Given the description of an element on the screen output the (x, y) to click on. 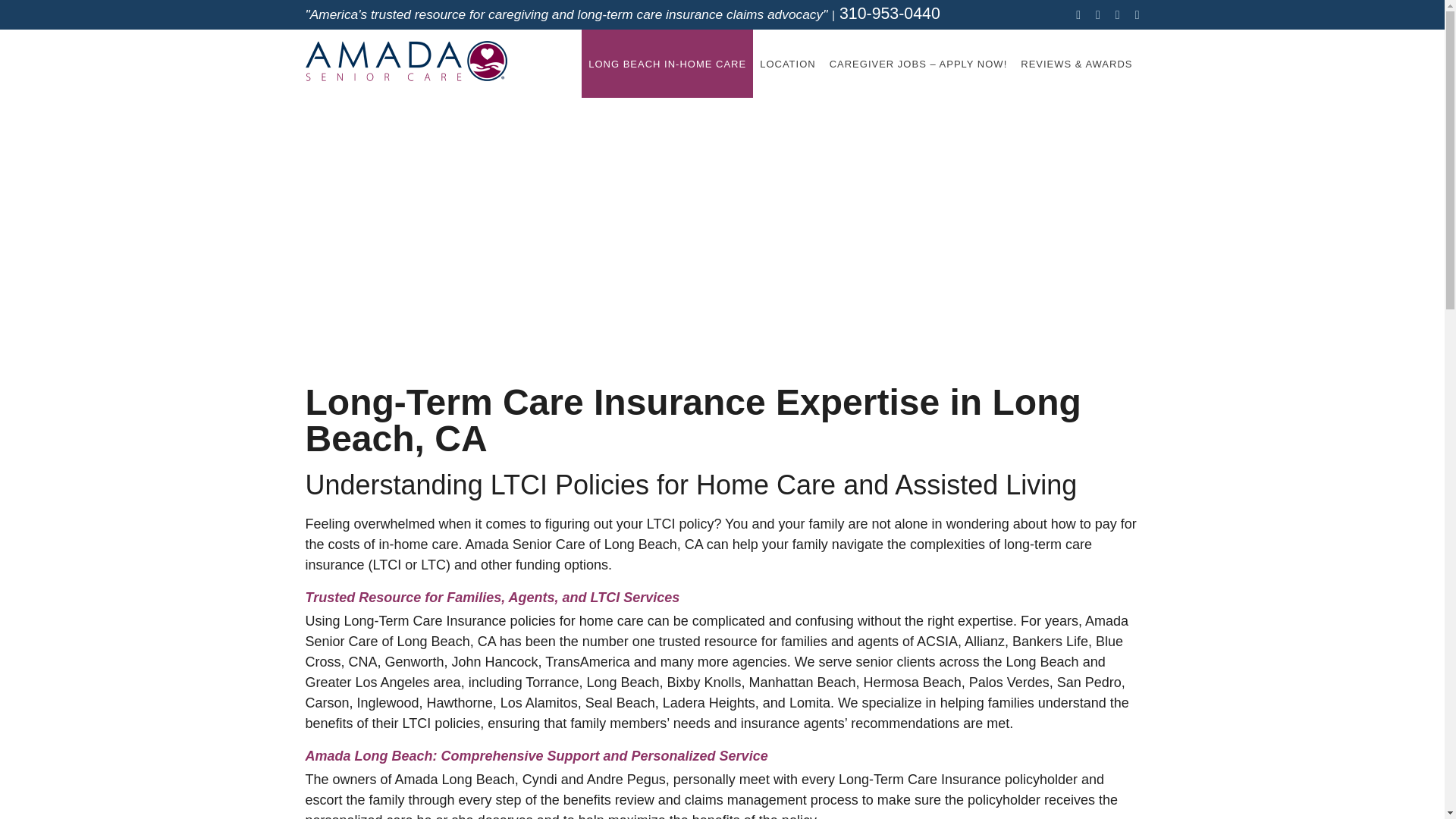
310-953-0440 (890, 13)
LOCATION (787, 63)
LONG BEACH IN-HOME CARE (666, 63)
